Given the description of an element on the screen output the (x, y) to click on. 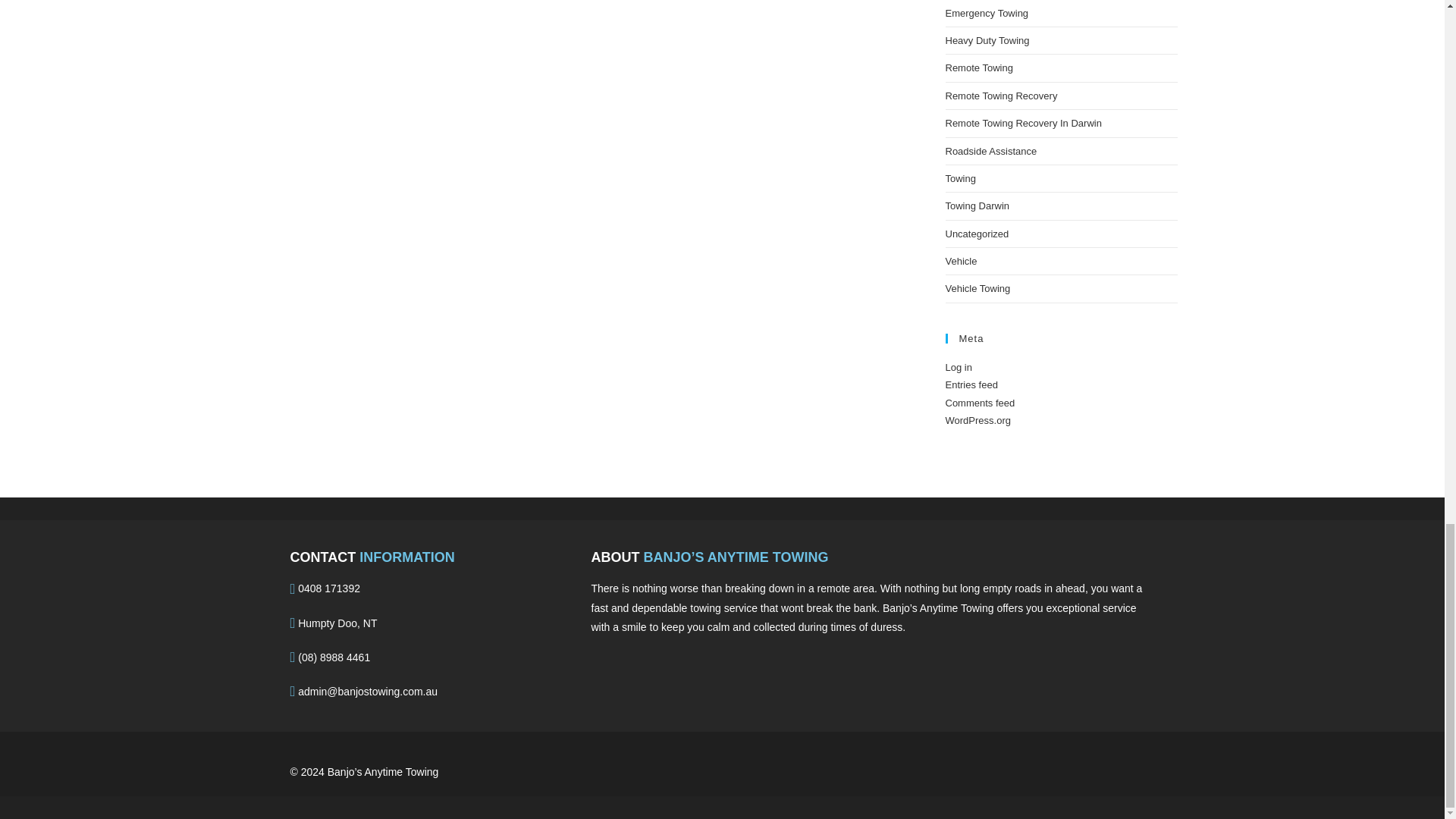
Localsearch (603, 664)
Find us on Facebook (630, 663)
business.localsearch.com.au (1104, 765)
Find Us On GMB (659, 664)
